Given the description of an element on the screen output the (x, y) to click on. 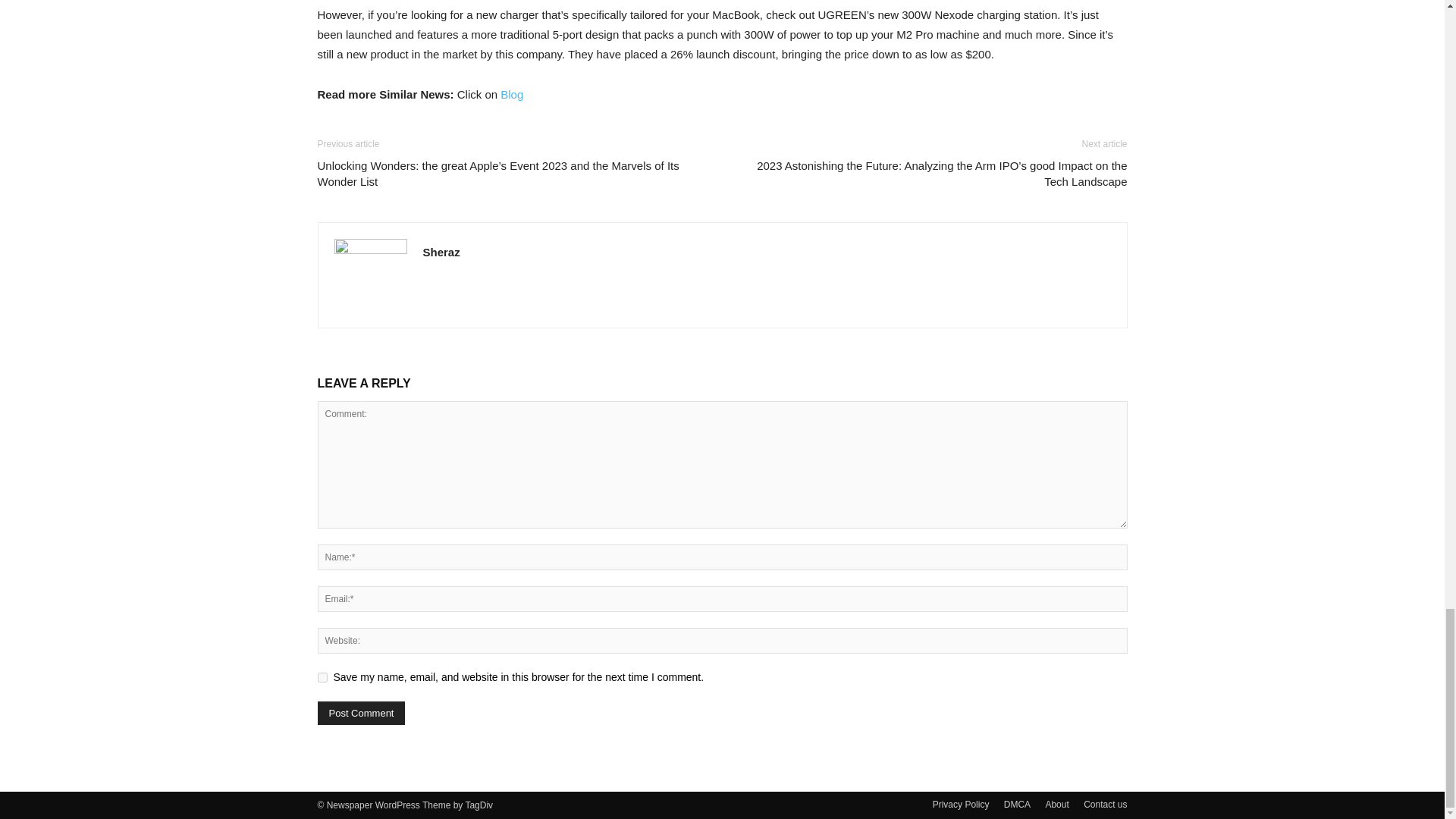
yes (321, 677)
Post Comment (360, 712)
